Given the description of an element on the screen output the (x, y) to click on. 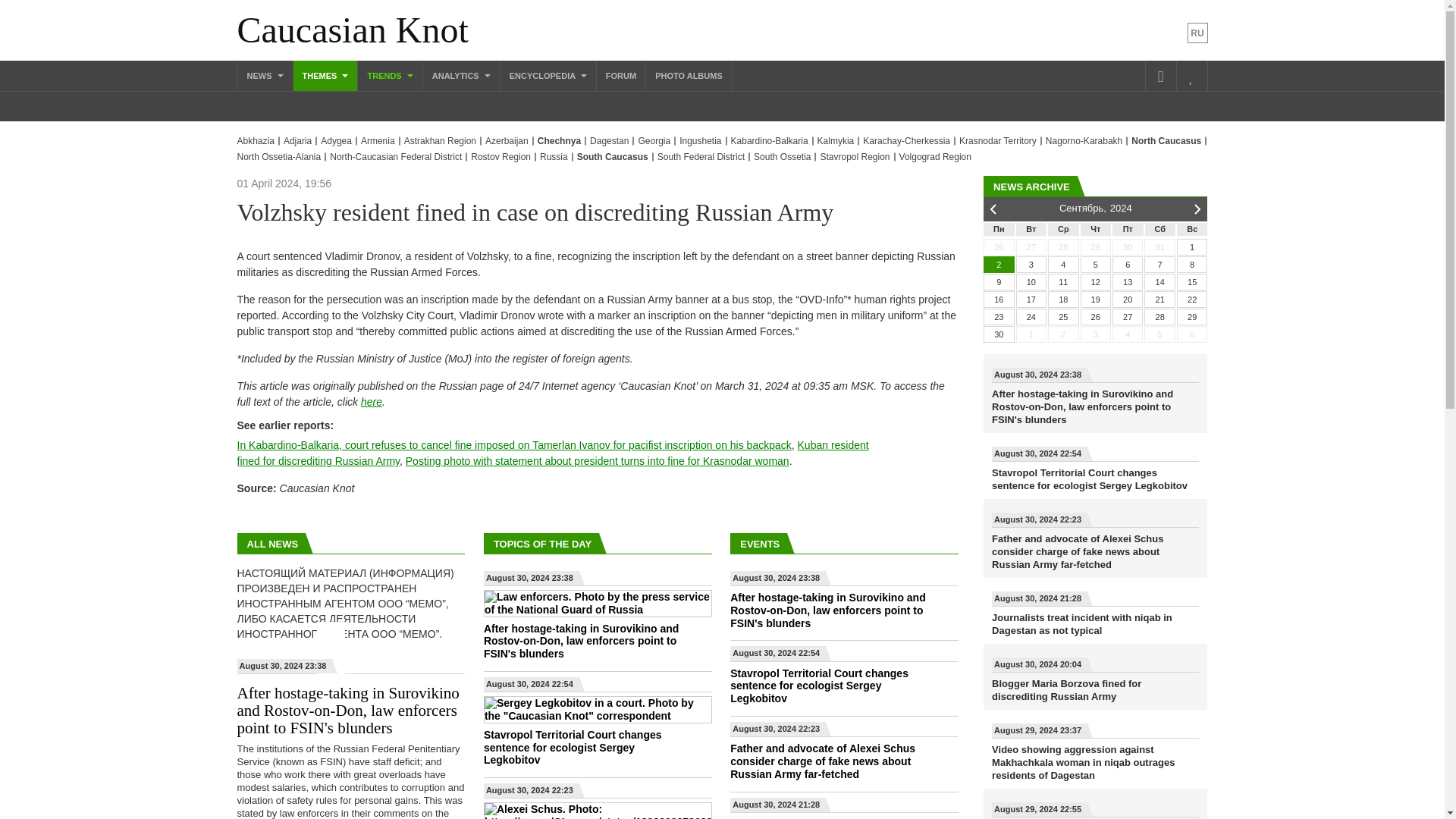
Caucasian Knot (351, 30)
TRENDS (390, 75)
NEWS (265, 75)
ANALYTICS (461, 75)
ENCYCLOPEDIA (547, 75)
THEMES (326, 75)
RU (1198, 32)
Toggle on russian version (1198, 32)
